Given the description of an element on the screen output the (x, y) to click on. 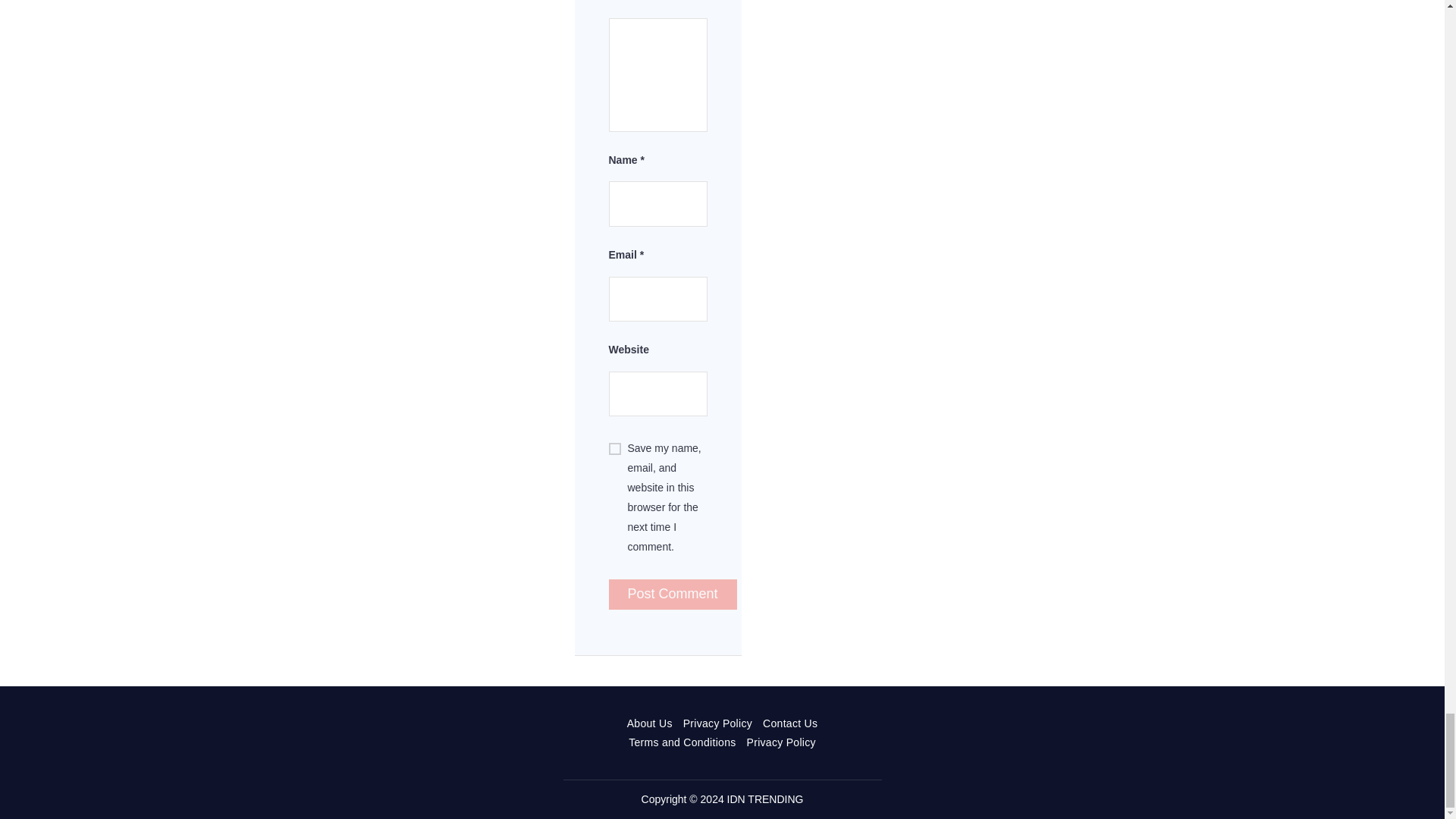
Post Comment (672, 594)
